Given the description of an element on the screen output the (x, y) to click on. 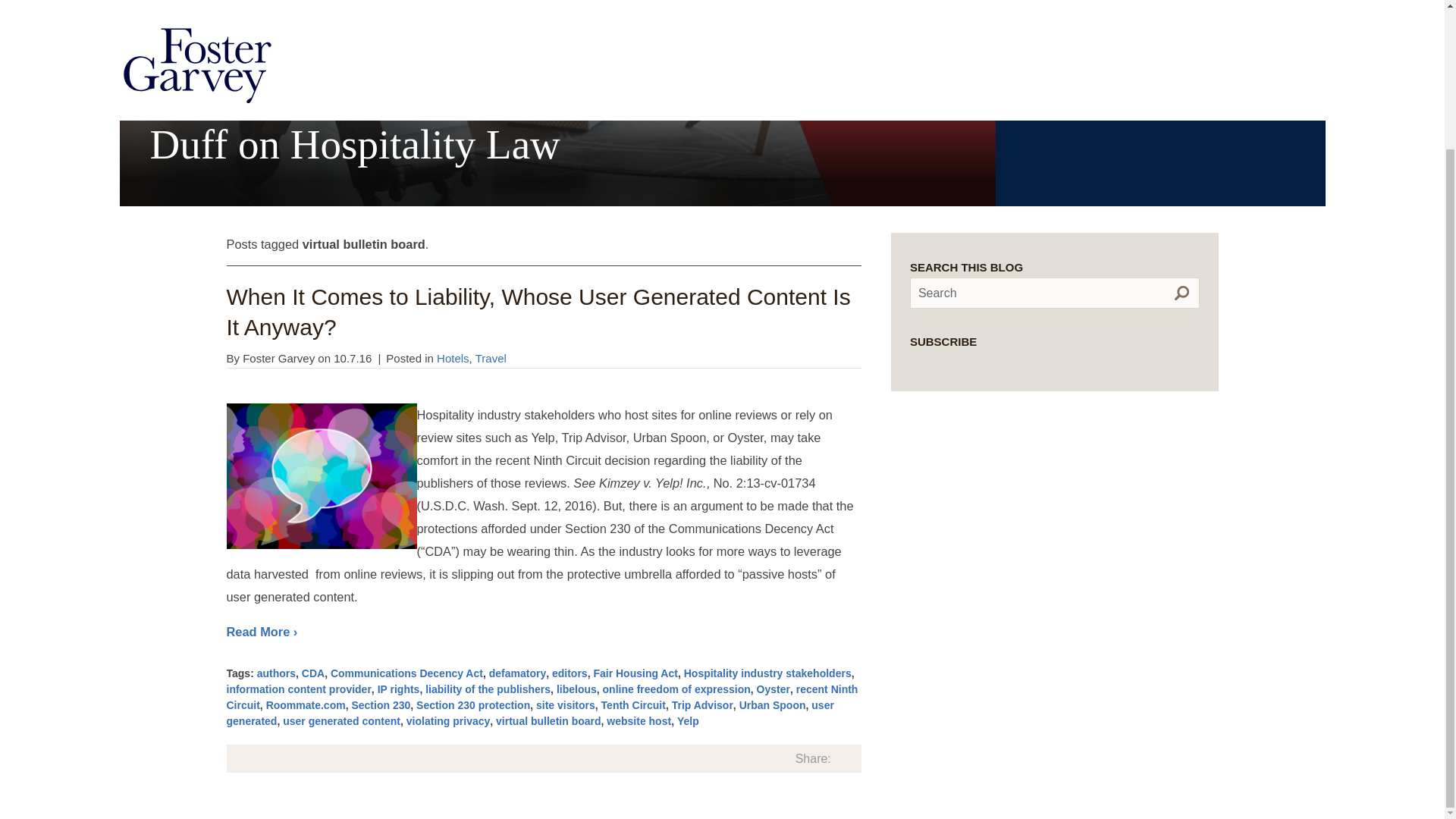
Urban Spoon (772, 705)
recent Ninth Circuit (541, 697)
Hospitality industry stakeholders (767, 673)
Oyster (773, 689)
user generated (528, 713)
Travel (491, 358)
information content provider (298, 689)
CDA (312, 673)
site visitors (565, 705)
Section 230 protection (472, 705)
